Given the description of an element on the screen output the (x, y) to click on. 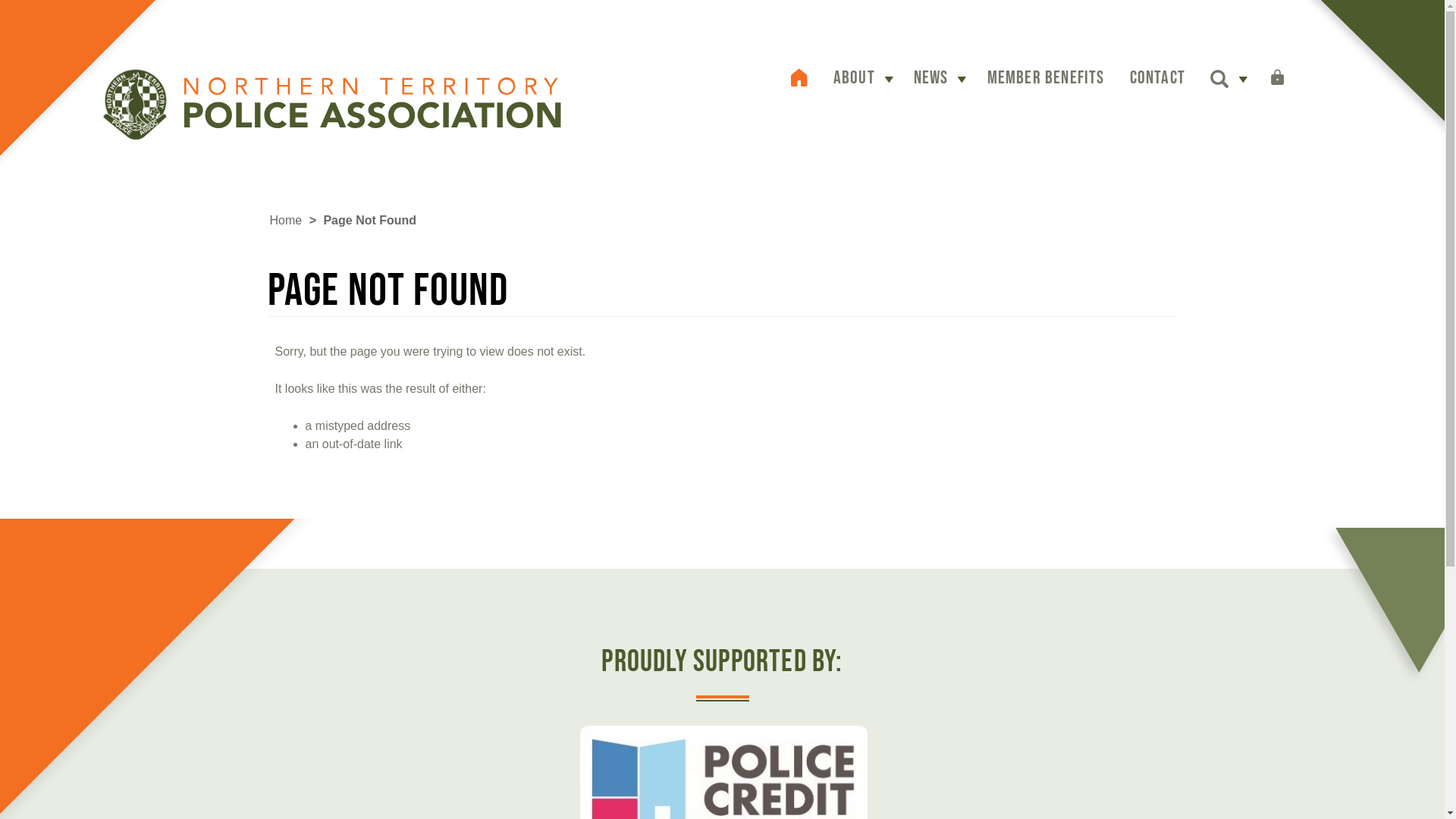
SIGN IN Element type: text (1304, 80)
MEMBER BENEFITS Element type: text (1045, 77)
Search Element type: hover (1219, 81)
ABOUT Element type: text (854, 77)
CONTACT Element type: text (1157, 77)
Home Element type: text (285, 219)
NEWS Element type: text (930, 77)
